Given the description of an element on the screen output the (x, y) to click on. 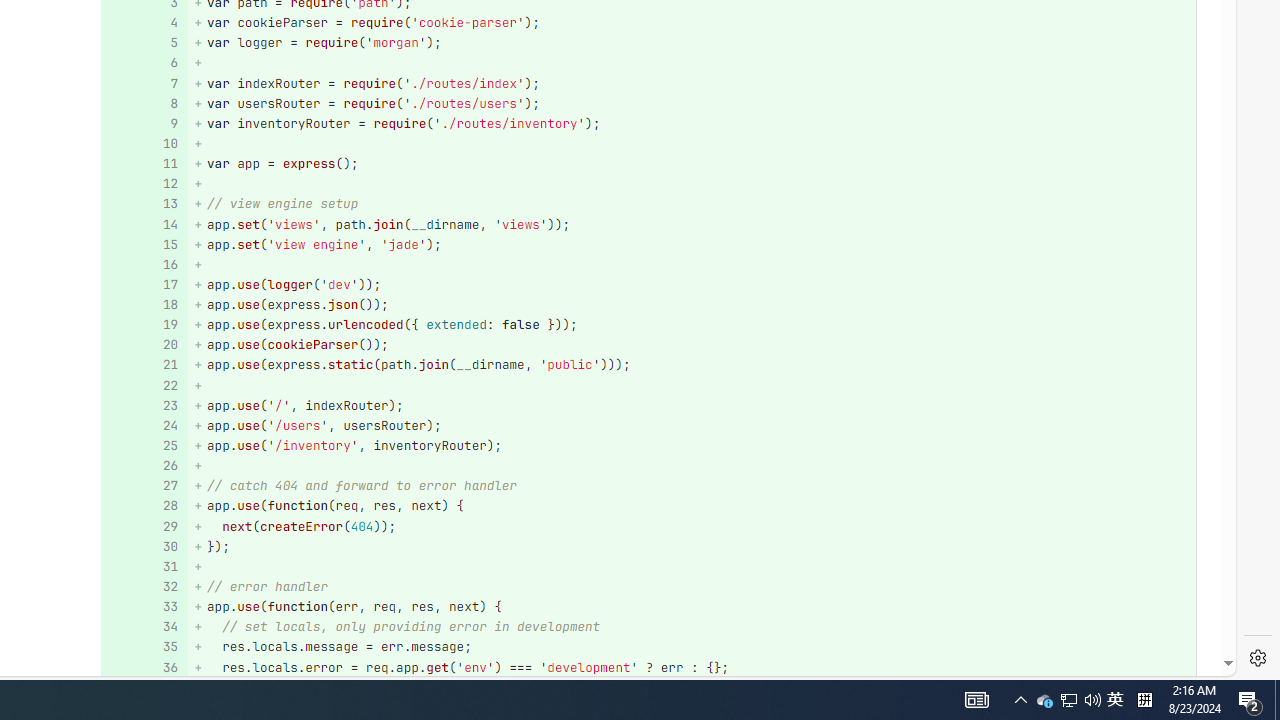
+ // set locals, only providing error in development  (691, 627)
Add a comment to this line 5 (144, 43)
Add a comment to this line 8 (144, 102)
11 (141, 164)
29 (141, 526)
